Given the description of an element on the screen output the (x, y) to click on. 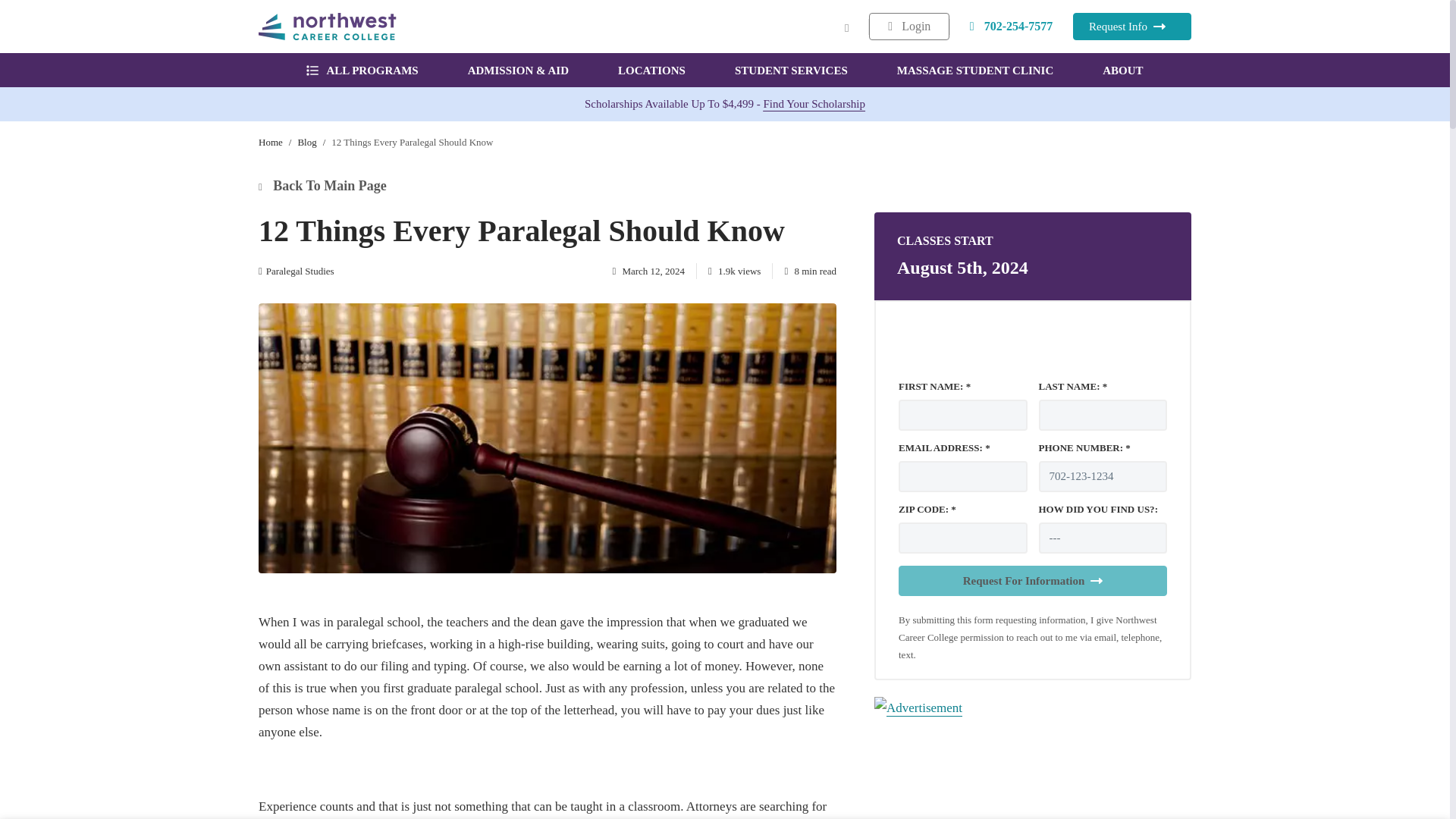
Blog (306, 142)
Login (909, 26)
Request Info (1132, 26)
702-254-7577 (1011, 26)
12 Things Every Paralegal Should Know (412, 142)
ALL PROGRAMS (362, 69)
